Given the description of an element on the screen output the (x, y) to click on. 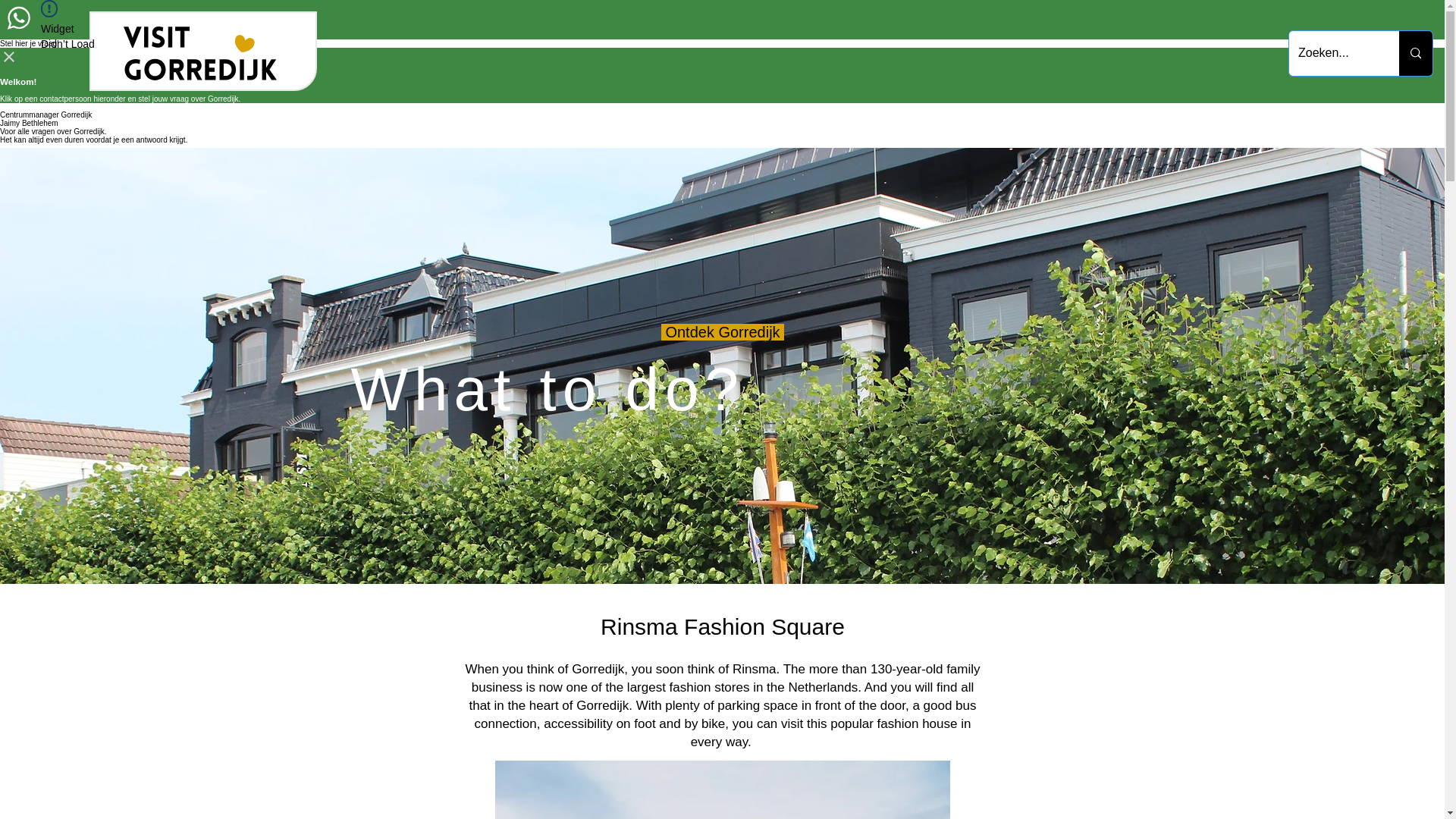
! (49, 8)
